Given the description of an element on the screen output the (x, y) to click on. 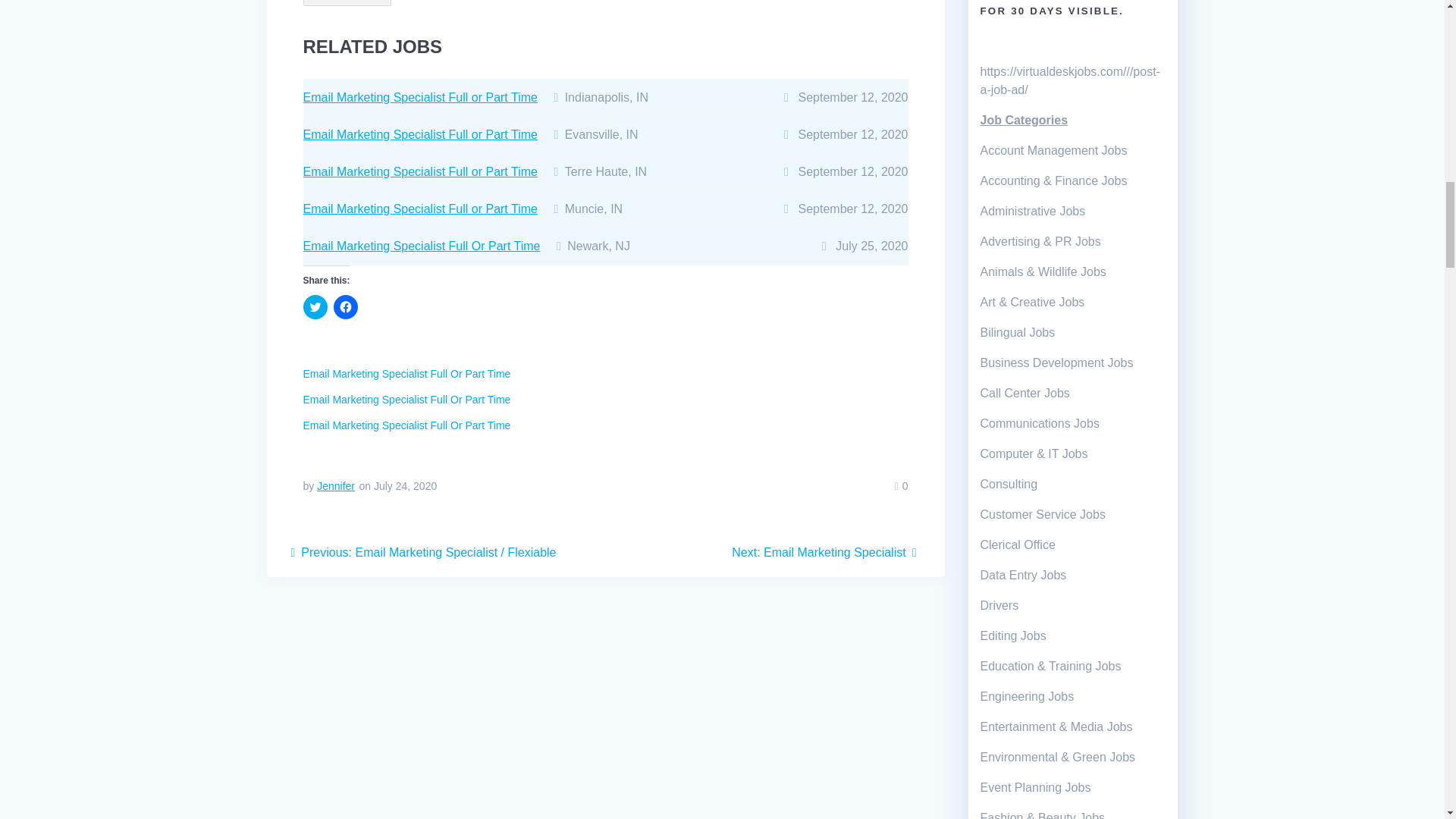
Email Marketing Specialist Full Or Part Time (406, 373)
Click to share on Facebook (345, 306)
Jennifer (336, 485)
Email Marketing Specialist Full Or Part Time (406, 425)
Email Marketing Specialist Full Or Part Time (421, 245)
Email Marketing Specialist Full or Part Time (419, 208)
Email Marketing Specialist Full Or Part Time (406, 425)
Email Marketing Specialist Full or Part Time (419, 97)
Click to share on Twitter (314, 306)
Email Marketing Specialist Full or Part Time (419, 133)
